Given the description of an element on the screen output the (x, y) to click on. 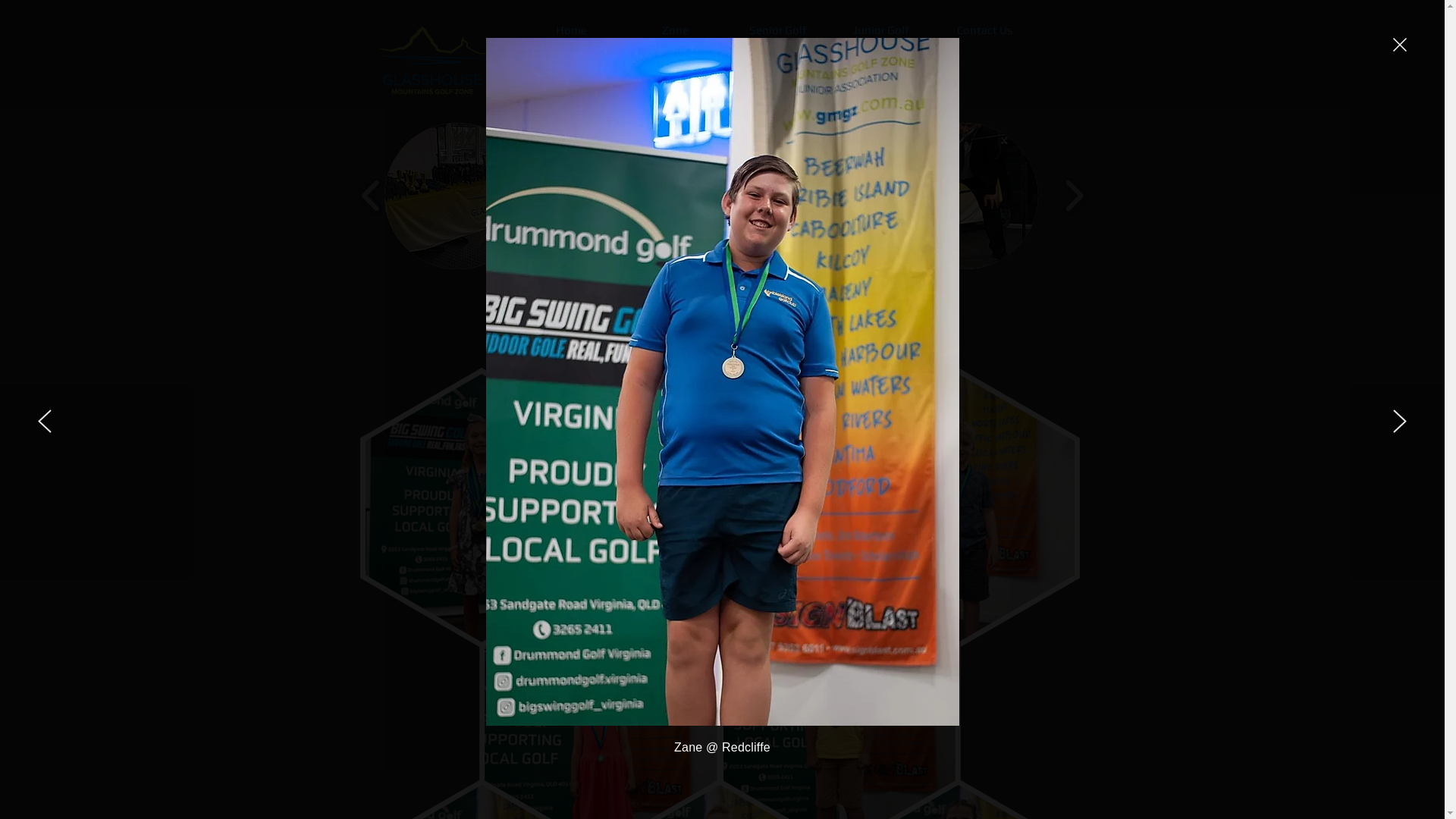
click here. Element type: text (904, 290)
Senior Golf Element type: text (777, 29)
Zone Element type: text (674, 29)
Contact Us Element type: text (983, 29)
Home Element type: text (571, 29)
Junior Golf Element type: text (880, 29)
